Given the description of an element on the screen output the (x, y) to click on. 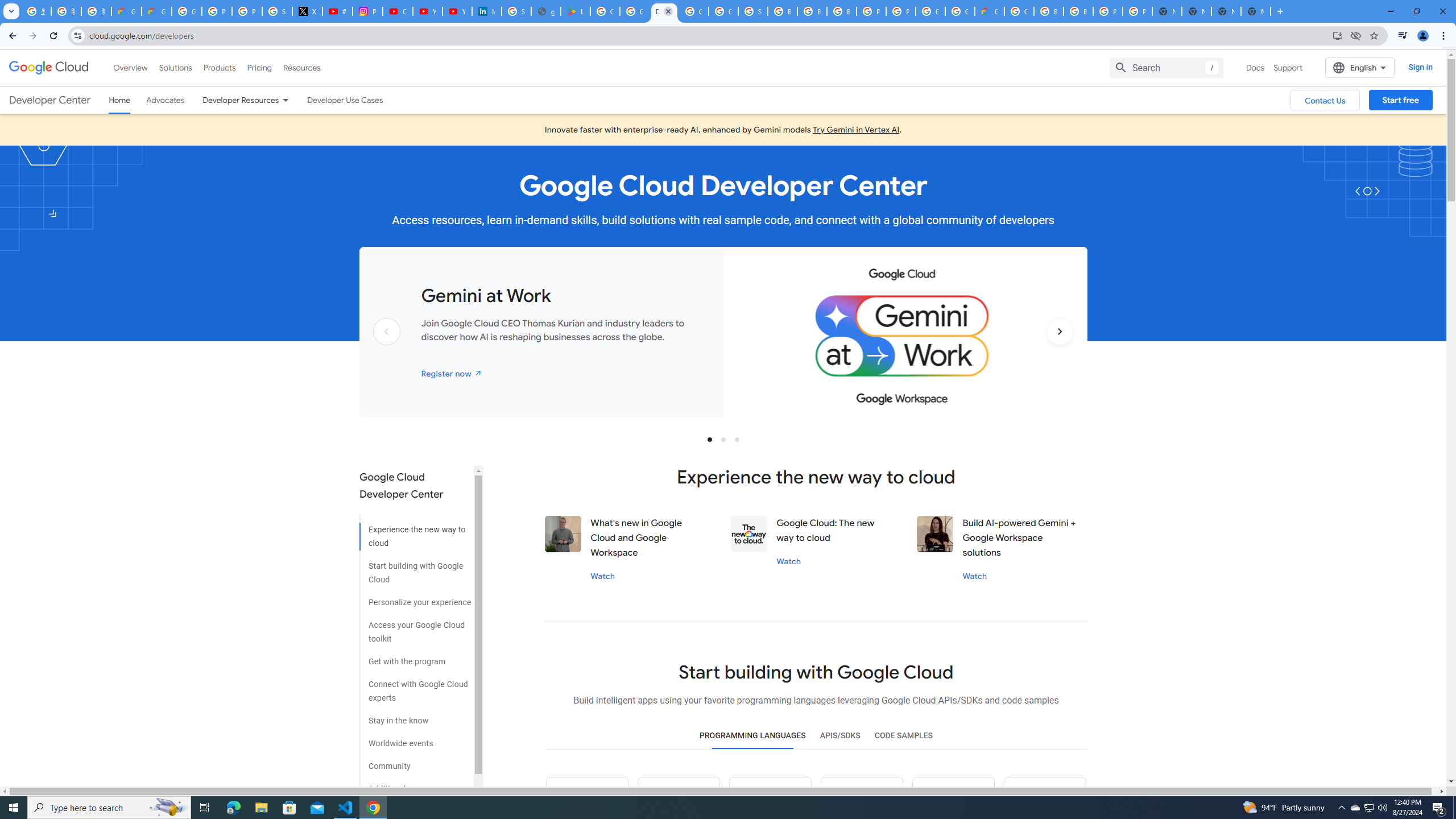
Start free (1400, 100)
Browse Chrome as a guest - Computer - Google Chrome Help (811, 11)
Google Cloud Platform (930, 11)
Developer Center (49, 100)
Slide 3 (736, 438)
Ruby icon (860, 798)
Watch (974, 575)
Sign in - Google Accounts (277, 11)
Try Gemini in Vertex AI (855, 129)
Stephanie wong's interview session (935, 533)
